Given the description of an element on the screen output the (x, y) to click on. 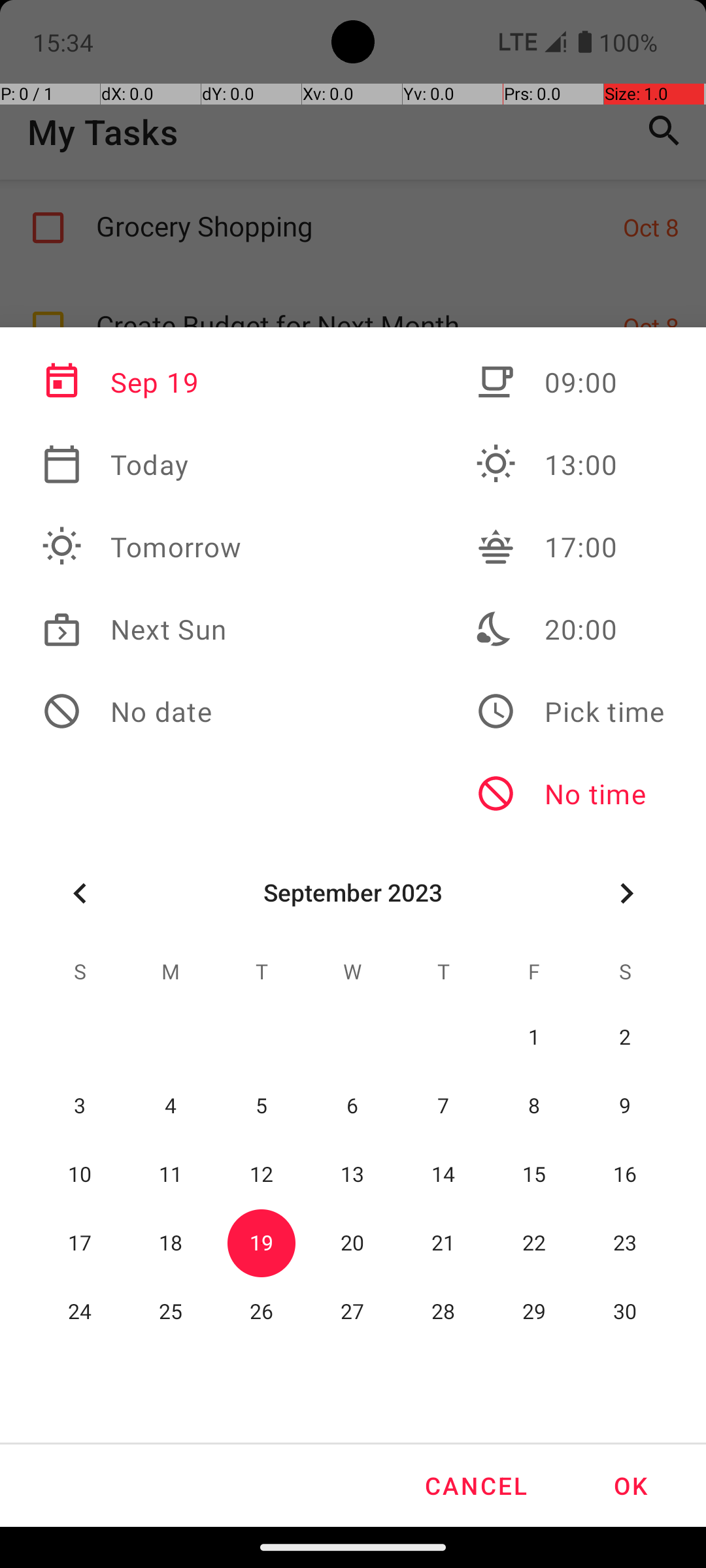
Sep 19 Element type: android.widget.CompoundButton (141, 382)
